Given the description of an element on the screen output the (x, y) to click on. 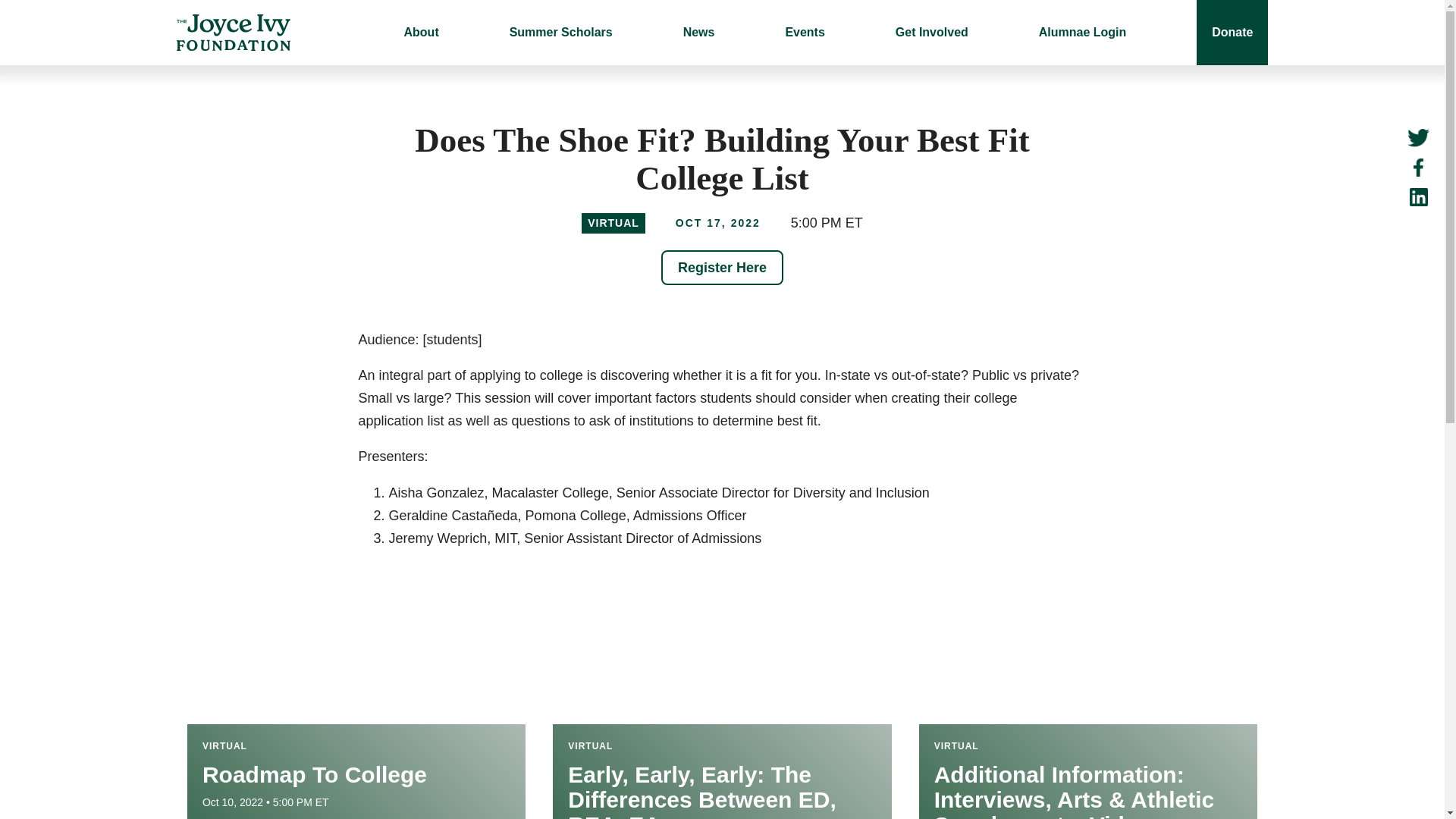
Alumnae Login (1082, 31)
Register Here (722, 267)
News (698, 31)
About (420, 31)
Events (804, 31)
Get Involved (931, 31)
Summer Scholars (560, 31)
Donate (1232, 32)
